Given the description of an element on the screen output the (x, y) to click on. 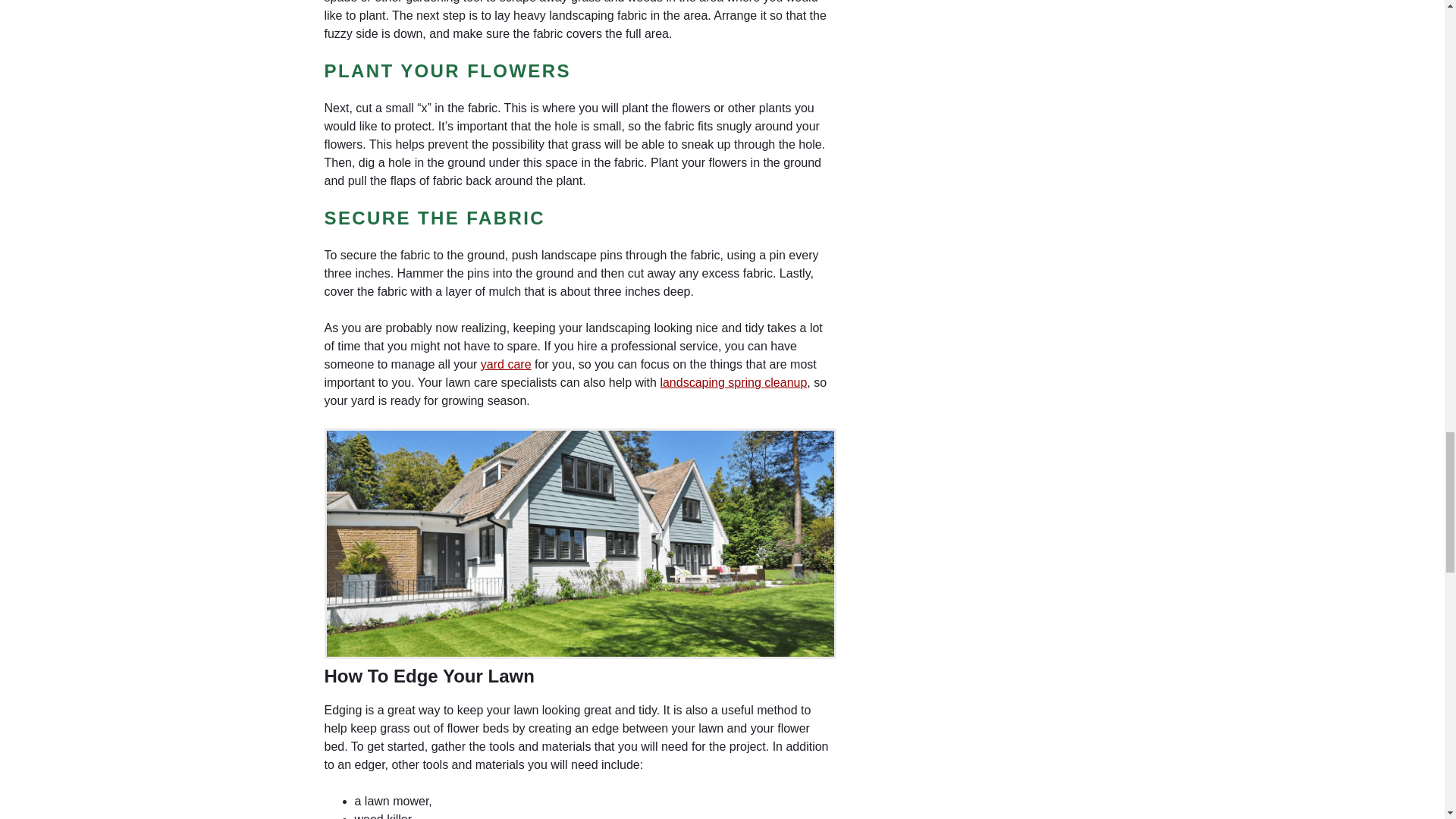
landscaping spring cleanup (732, 382)
yard care (505, 364)
